Given the description of an element on the screen output the (x, y) to click on. 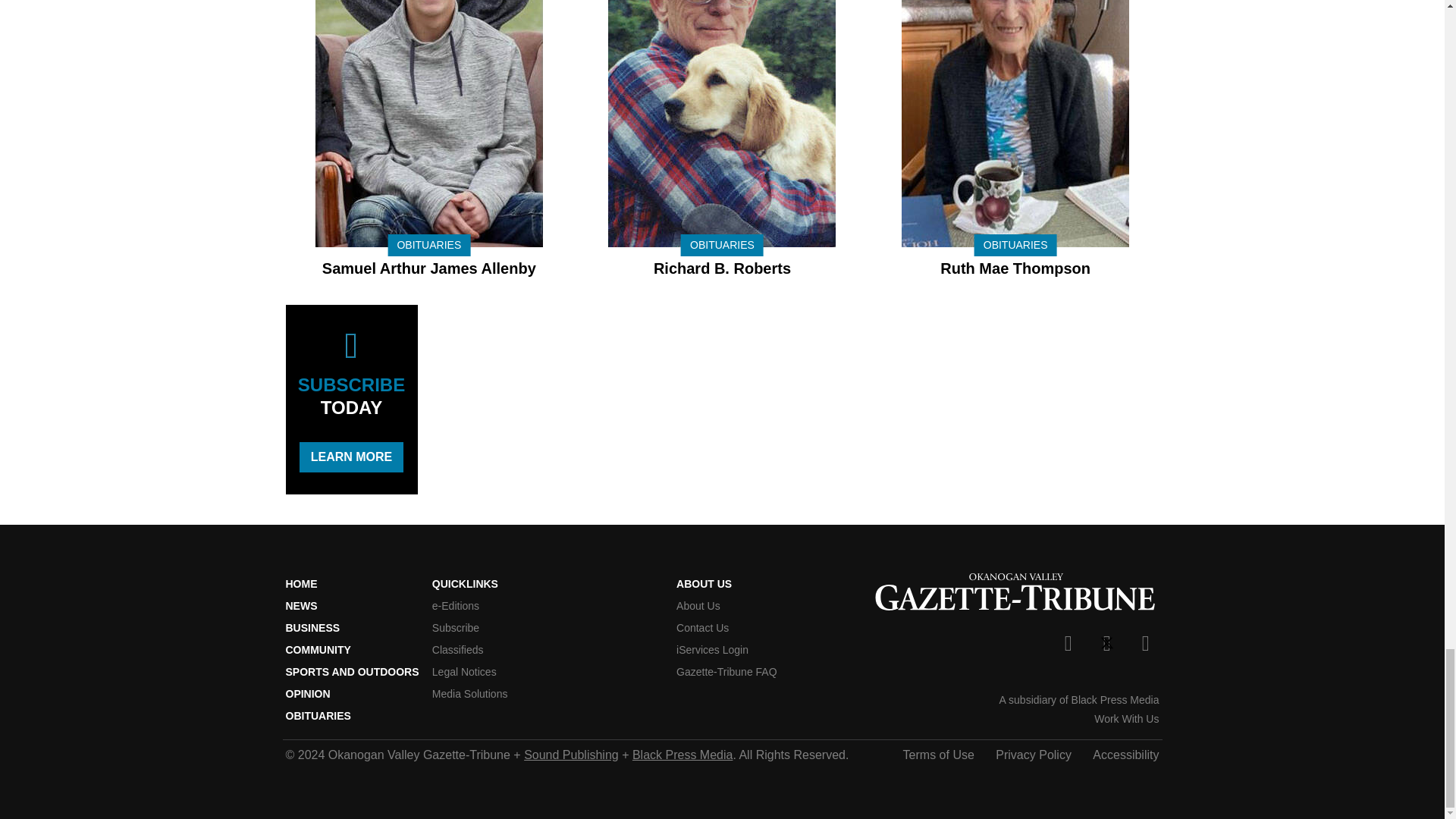
Gazette-Tribune (1015, 594)
